Given the description of an element on the screen output the (x, y) to click on. 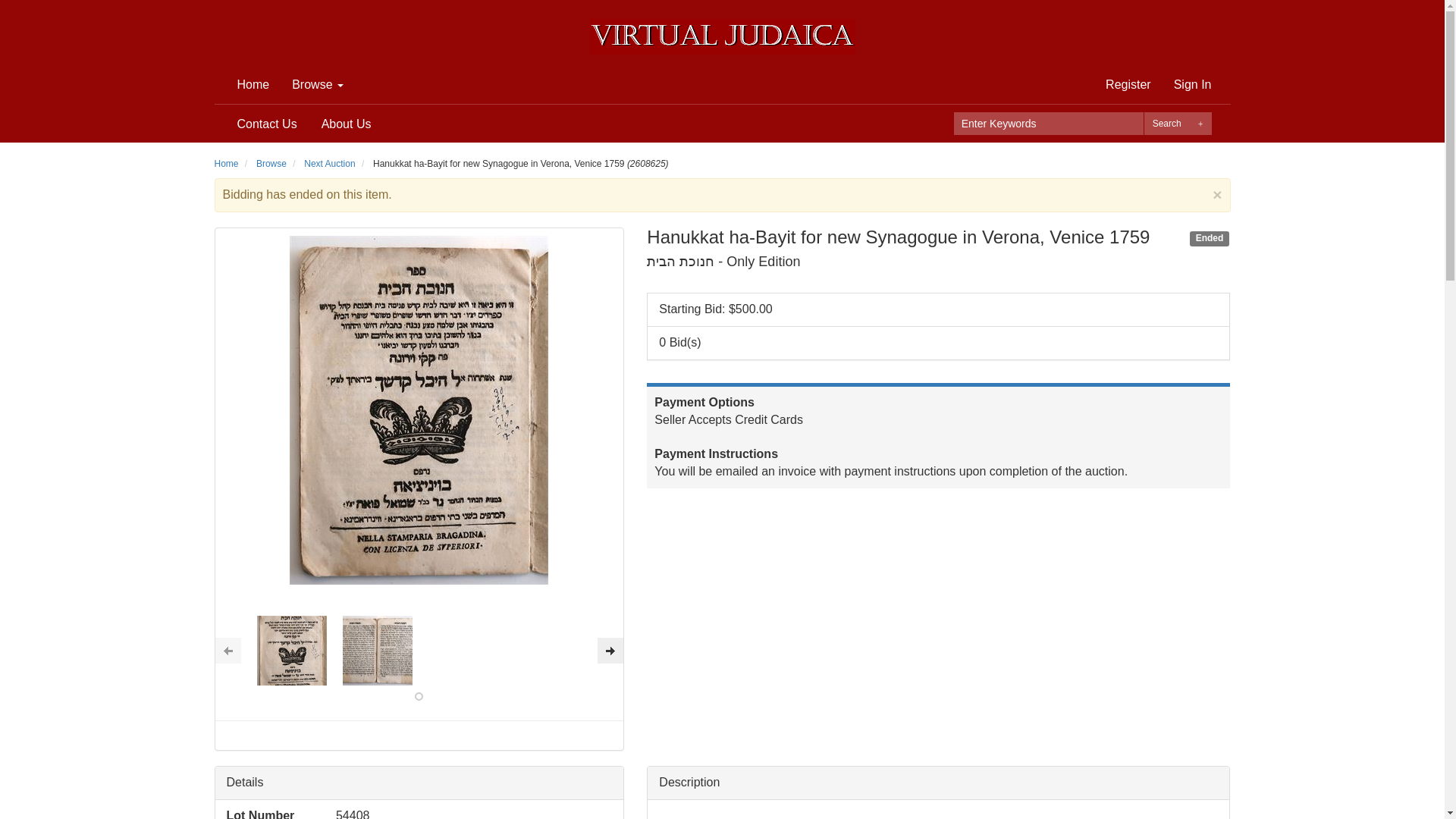
About Us (346, 124)
Browse (318, 85)
Search (1166, 123)
Sign In (1192, 85)
next (609, 650)
Register (1127, 85)
Home (253, 85)
0 (418, 696)
Previous (228, 650)
Next Auction (329, 163)
Home (226, 163)
Contact Us (266, 124)
Browse (271, 163)
